Given the description of an element on the screen output the (x, y) to click on. 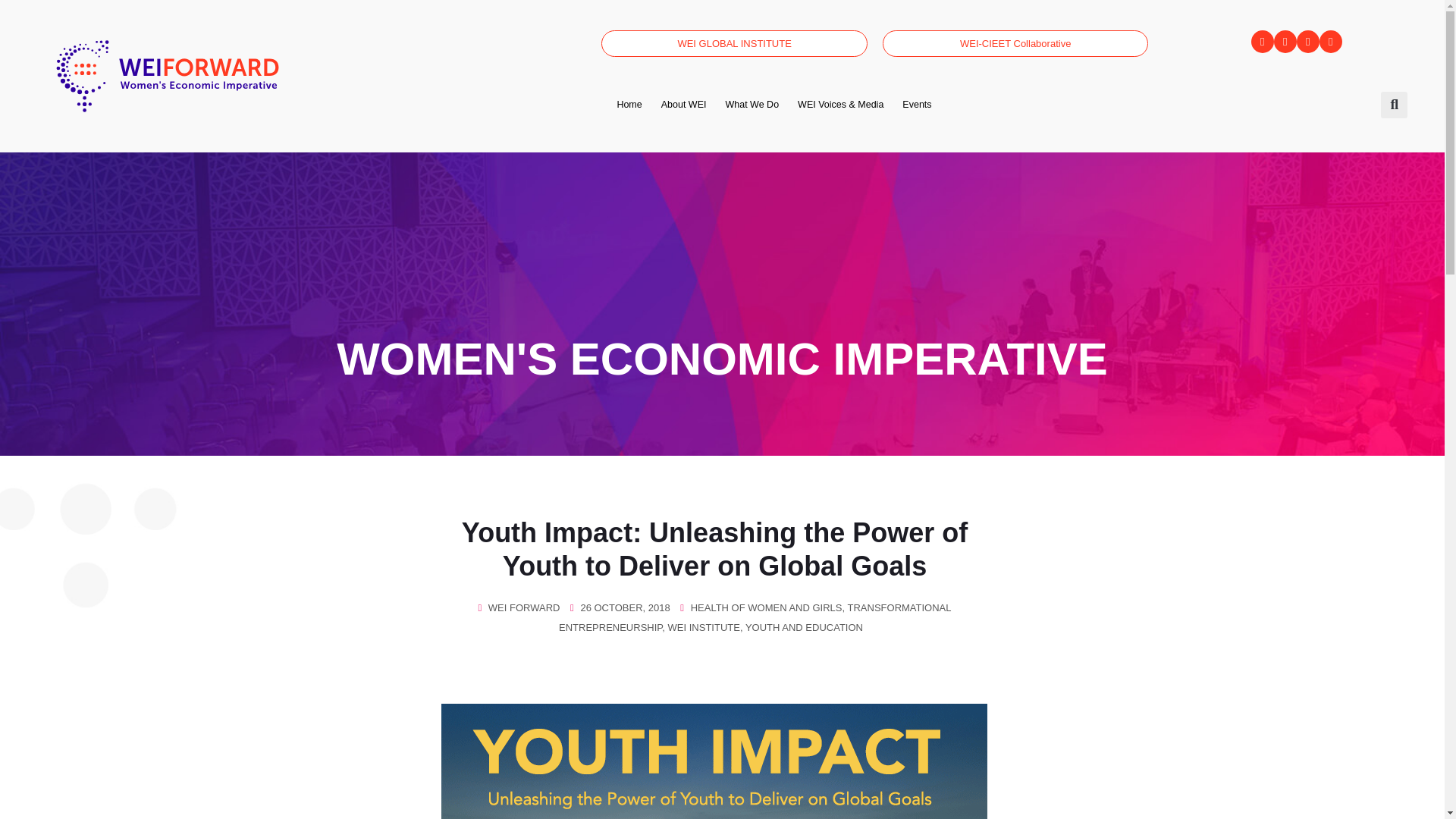
Home (628, 104)
About WEI (684, 104)
WEI-CIEET Collaborative (1015, 43)
WEI GLOBAL INSTITUTE (734, 43)
What We Do (751, 104)
Events (916, 104)
